Given the description of an element on the screen output the (x, y) to click on. 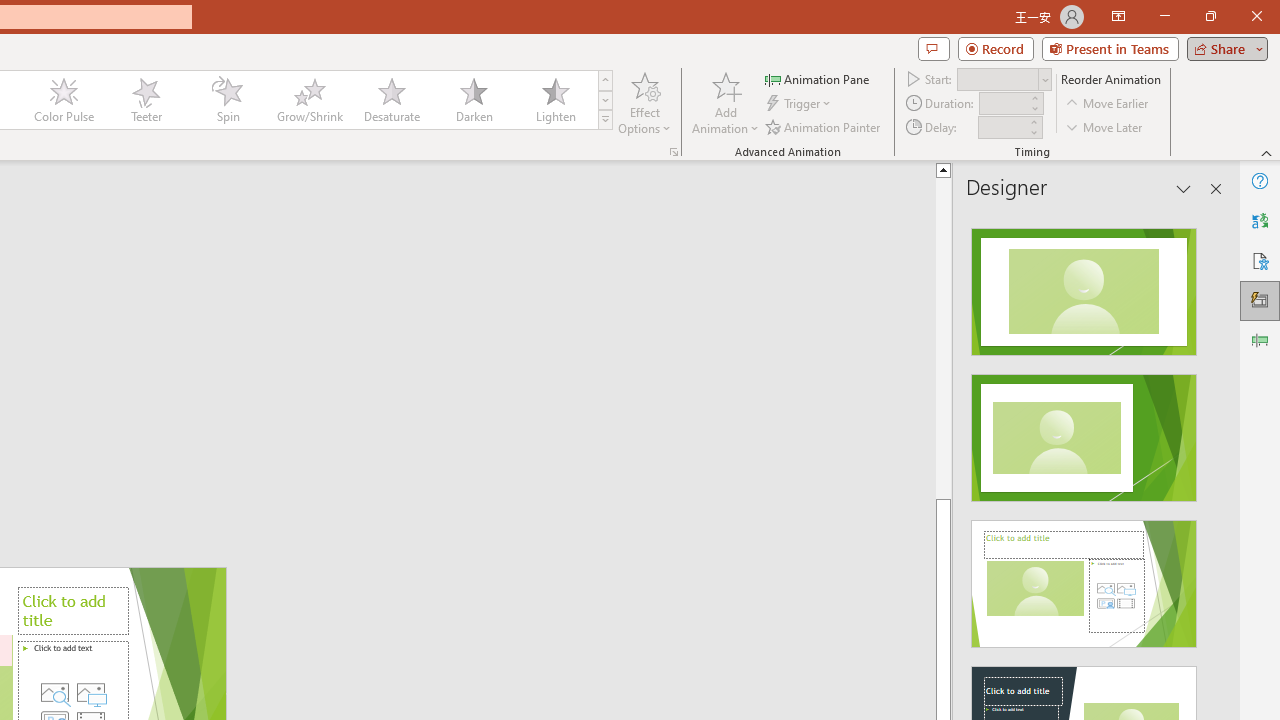
Lighten (555, 100)
Add Animation (725, 102)
Color Pulse (63, 100)
Row Down (605, 100)
Darken (473, 100)
Move Later (1105, 126)
Accessibility (1260, 260)
Design Idea (1083, 577)
Desaturate (391, 100)
Close pane (1215, 188)
Stock Images (54, 692)
Trigger (799, 103)
Task Pane Options (1183, 188)
Effect Options (644, 102)
Row up (605, 79)
